Given the description of an element on the screen output the (x, y) to click on. 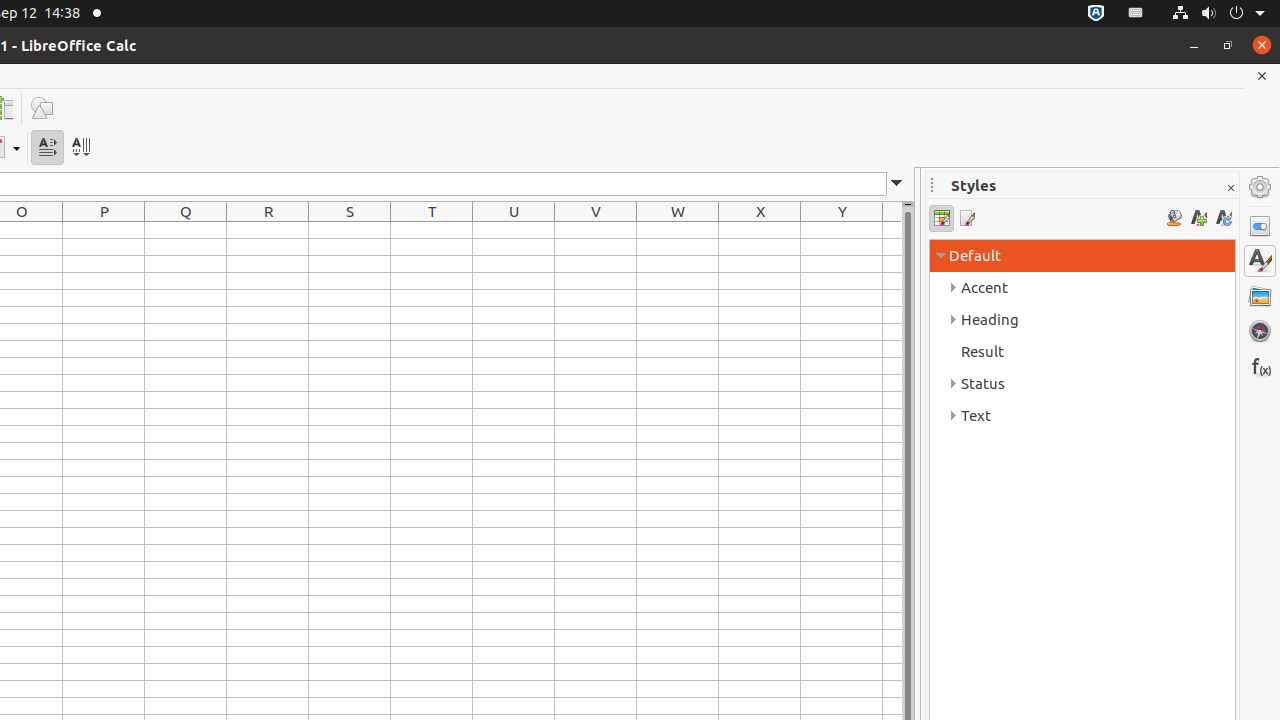
Styles Element type: radio-button (1260, 261)
P1 Element type: table-cell (104, 230)
V1 Element type: table-cell (596, 230)
Functions Element type: radio-button (1260, 366)
X1 Element type: table-cell (760, 230)
